Given the description of an element on the screen output the (x, y) to click on. 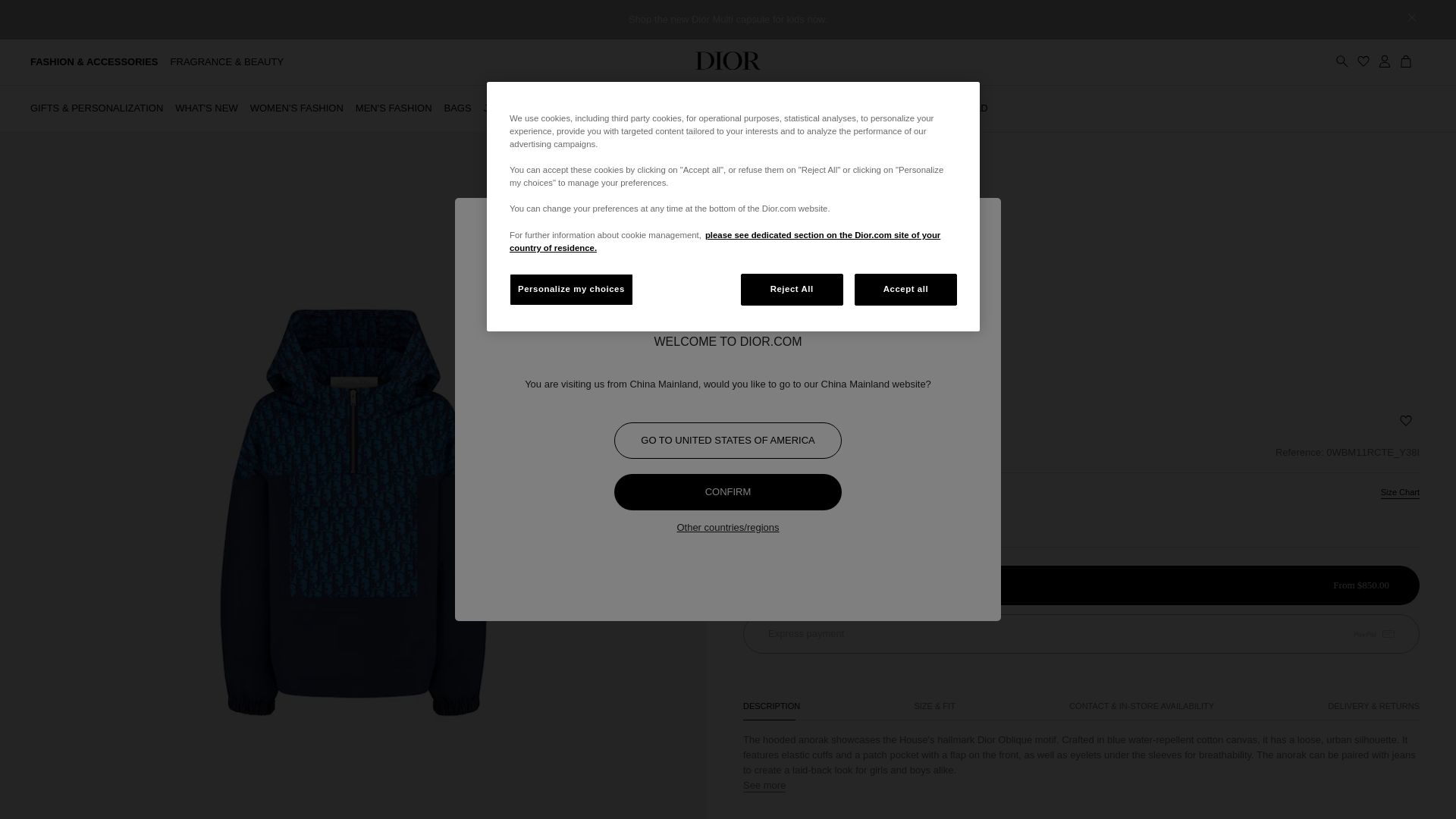
Shop the new Dior Multi capsule for kids now. (727, 19)
Blue Dior Oblique Water-Repellent Cotton Canvas (963, 452)
WHAT'S NEW (205, 108)
WOMEN'S FASHION (296, 108)
